Given the description of an element on the screen output the (x, y) to click on. 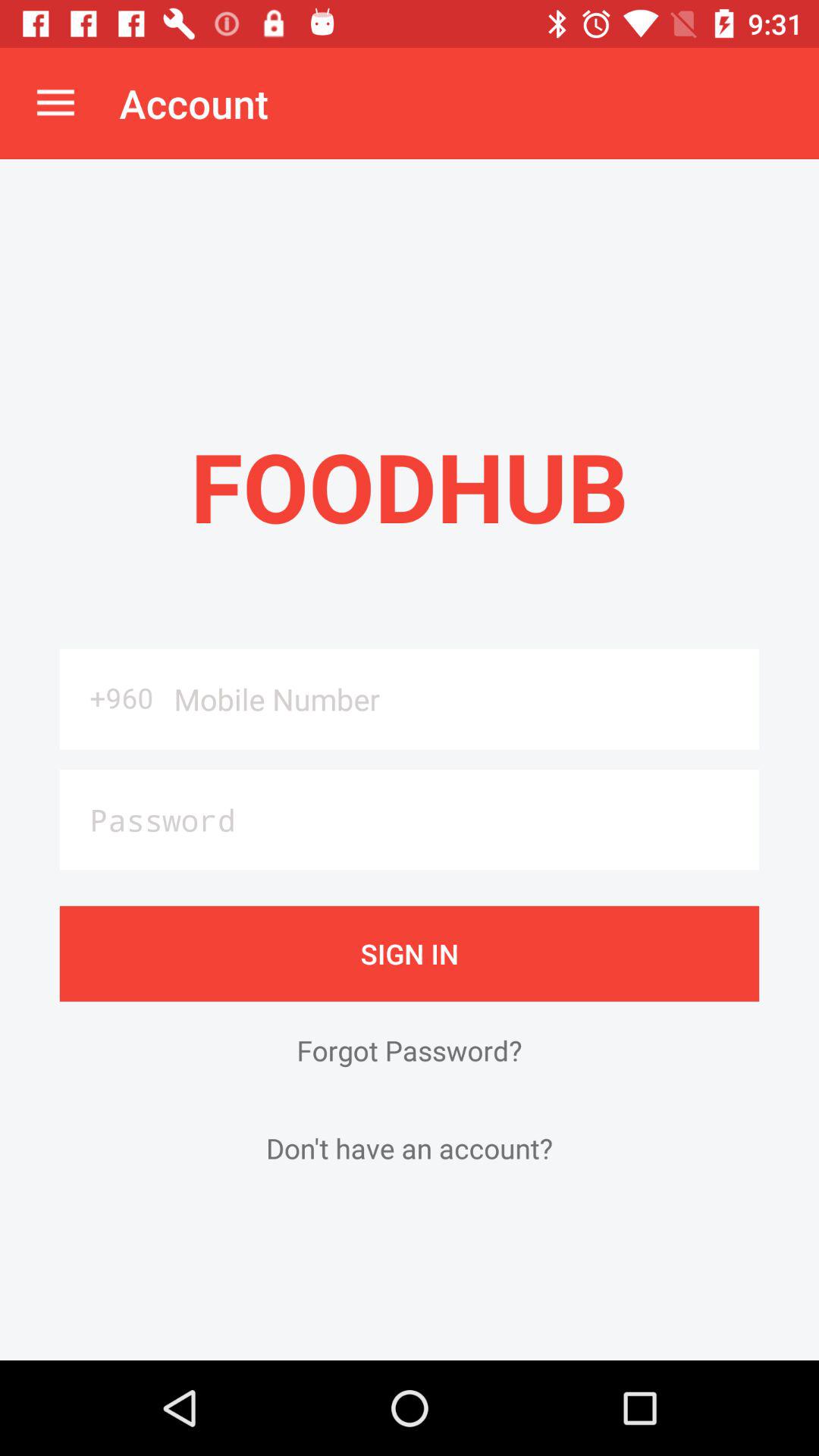
enter mobile number (461, 698)
